Given the description of an element on the screen output the (x, y) to click on. 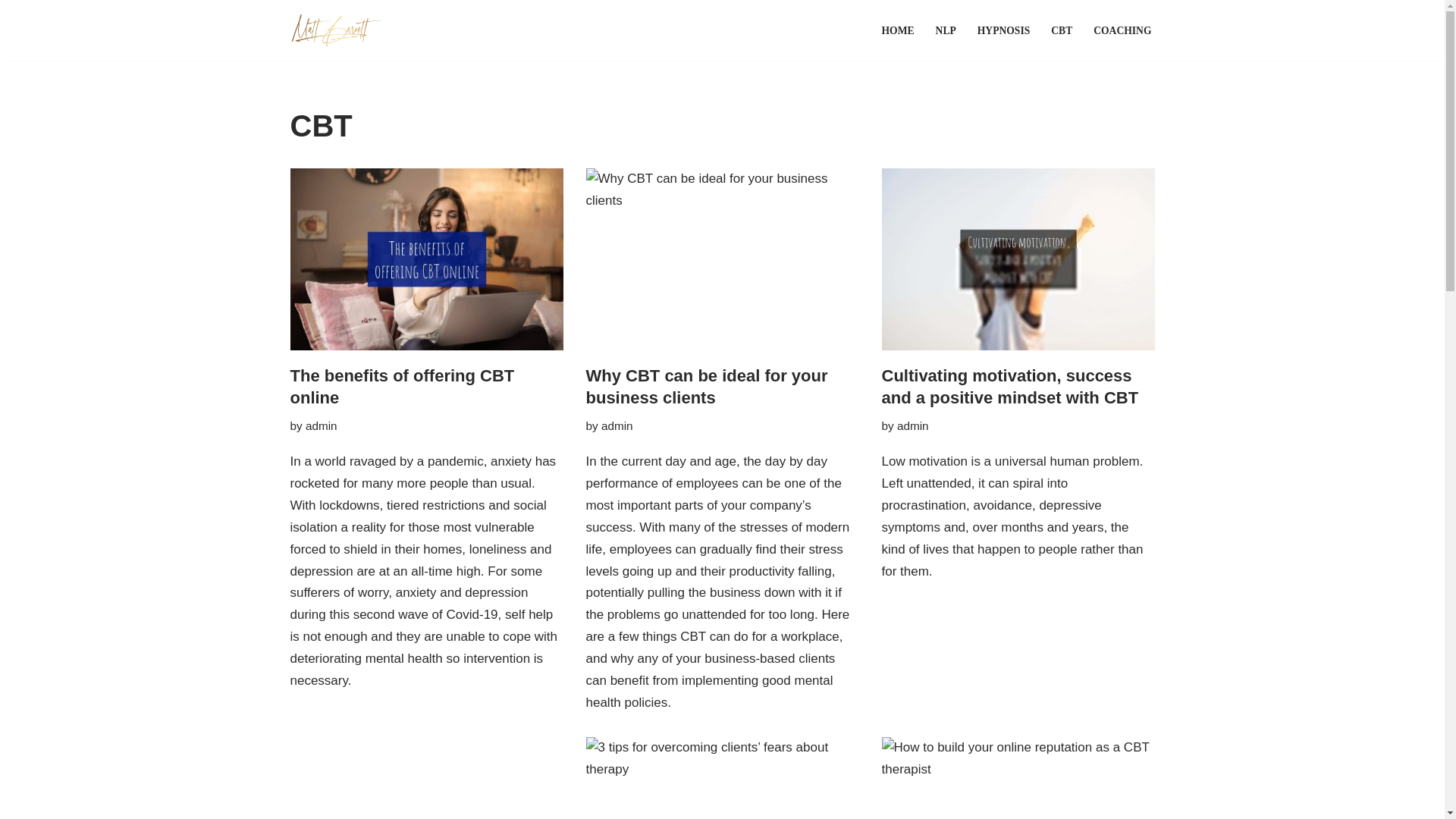
admin (617, 425)
Posts by admin (617, 425)
Skip to content (11, 31)
admin (912, 425)
The benefits of offering CBT online (401, 386)
Posts by admin (912, 425)
HOME (898, 29)
COACHING (1122, 29)
Tips for setting up your own therapy practice (425, 778)
